Given the description of an element on the screen output the (x, y) to click on. 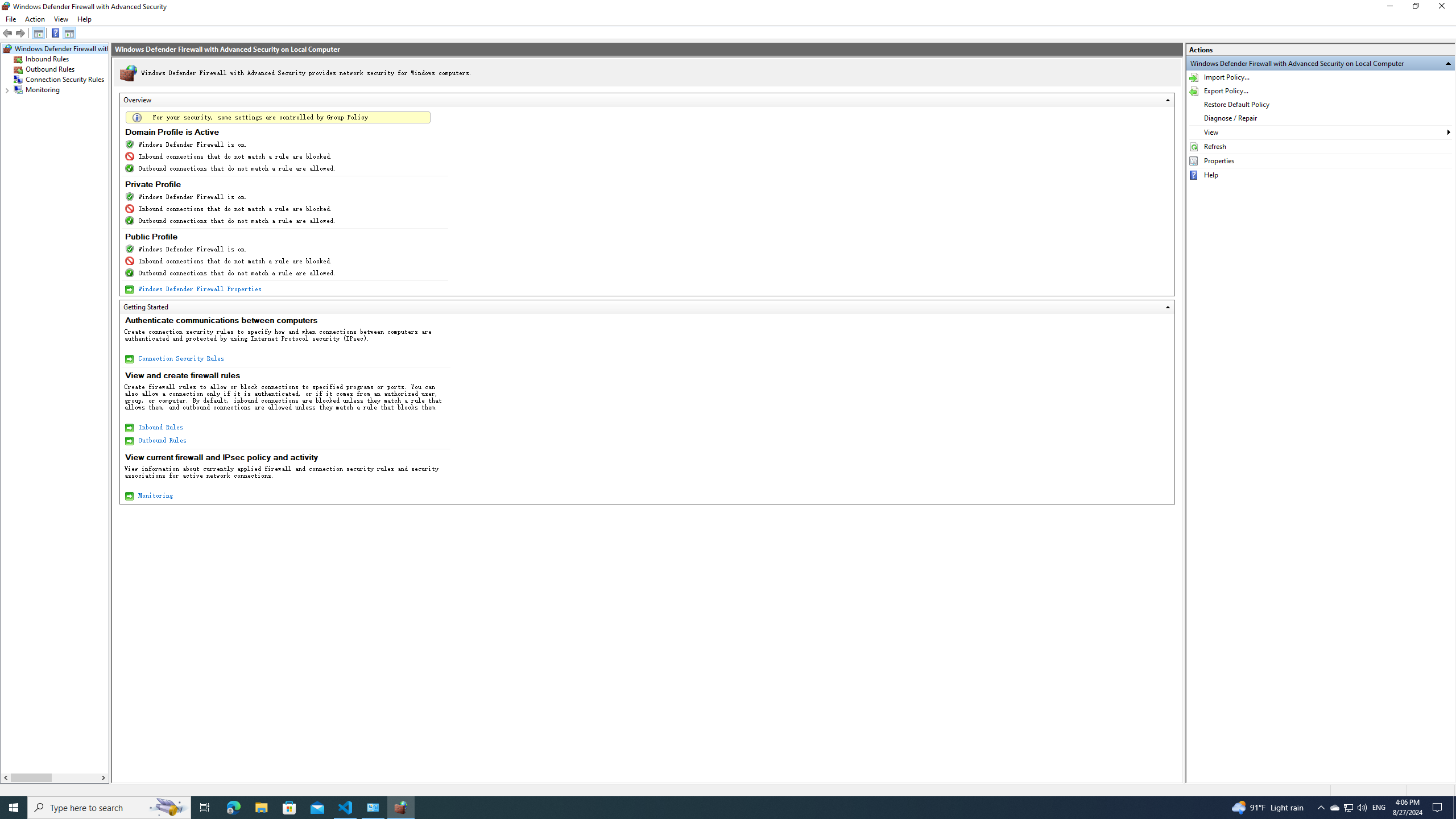
Connection Security Rules (180, 357)
Windows Defender Firewall Properties (199, 288)
Tray Input Indicator - English (United States) (1378, 807)
AutomationID: 4097 (728, 19)
Restore Default Policy (1320, 104)
Show/Hide Action Pane (68, 33)
Control Panel - 1 running window (373, 807)
Monitoring (154, 495)
